Given the description of an element on the screen output the (x, y) to click on. 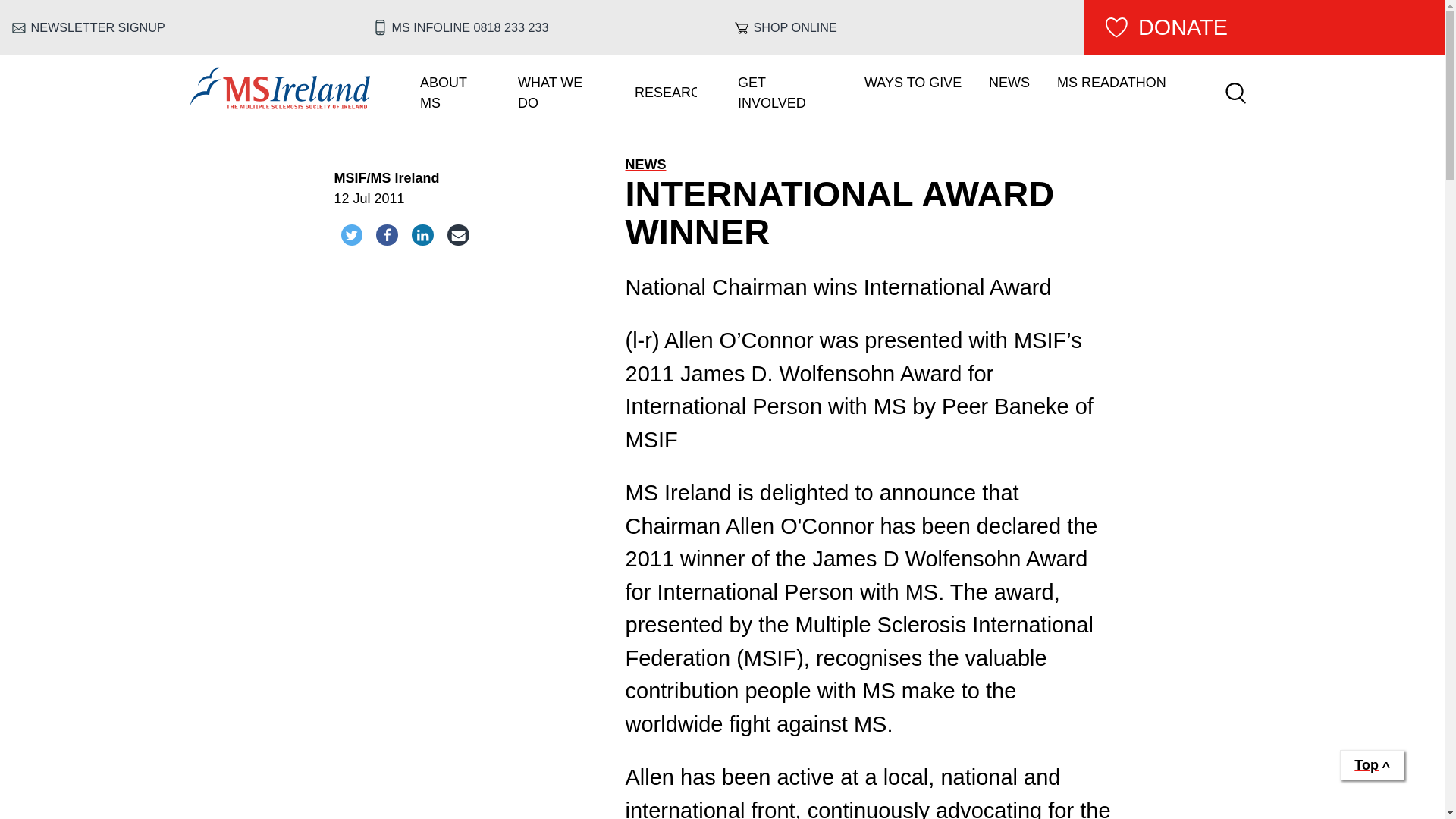
MS INFOLINE 0818 233 233 (541, 27)
ABOUT MS (445, 93)
Search (1234, 93)
WHAT WE DO (551, 93)
MS Readathon (1111, 82)
Home (279, 104)
RESEARCH (662, 92)
SHOP ONLINE (902, 27)
NEWSLETTER SIGNUP (180, 27)
